Given the description of an element on the screen output the (x, y) to click on. 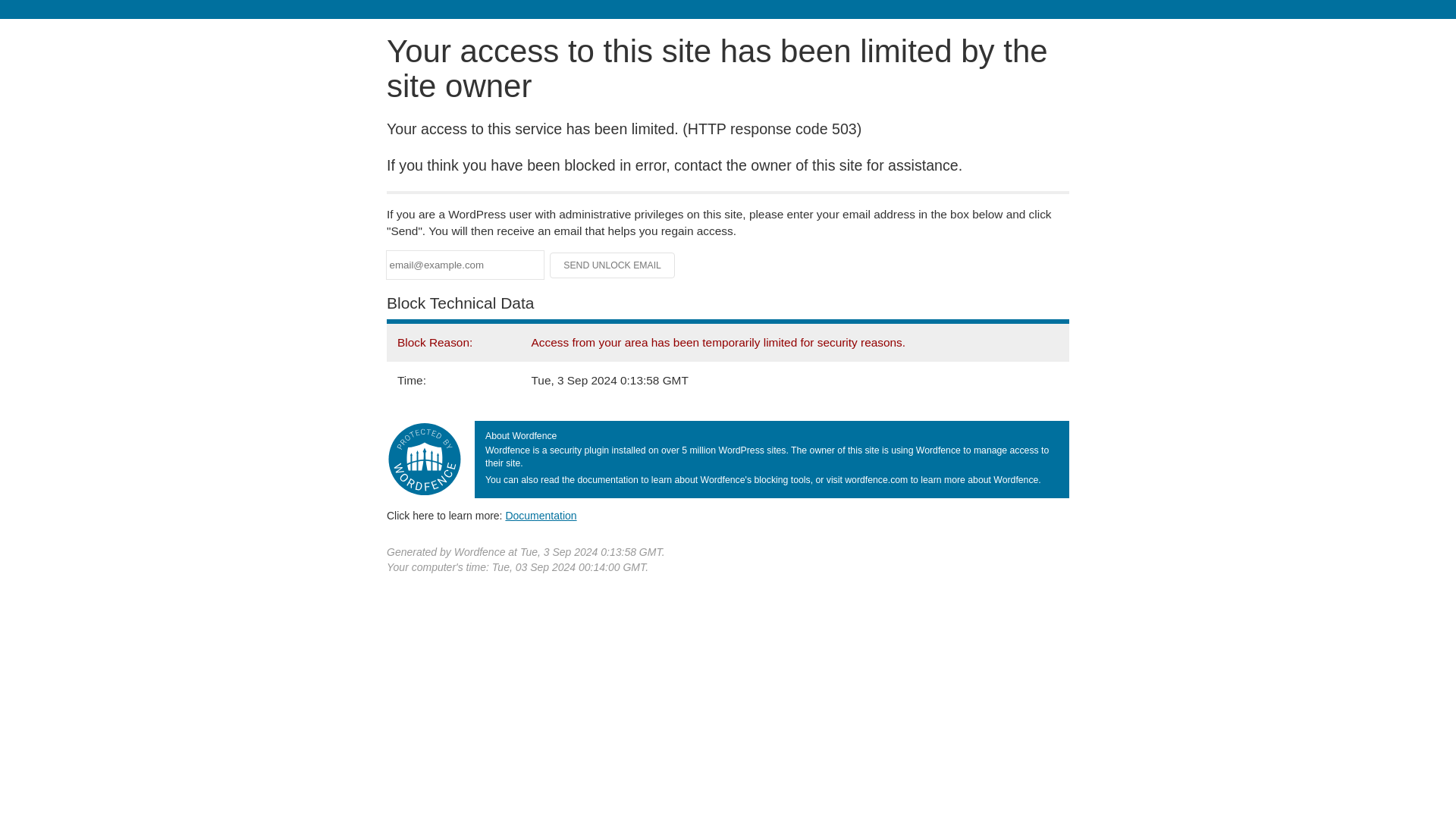
Send Unlock Email (612, 265)
Send Unlock Email (612, 265)
Documentation (540, 515)
